Given the description of an element on the screen output the (x, y) to click on. 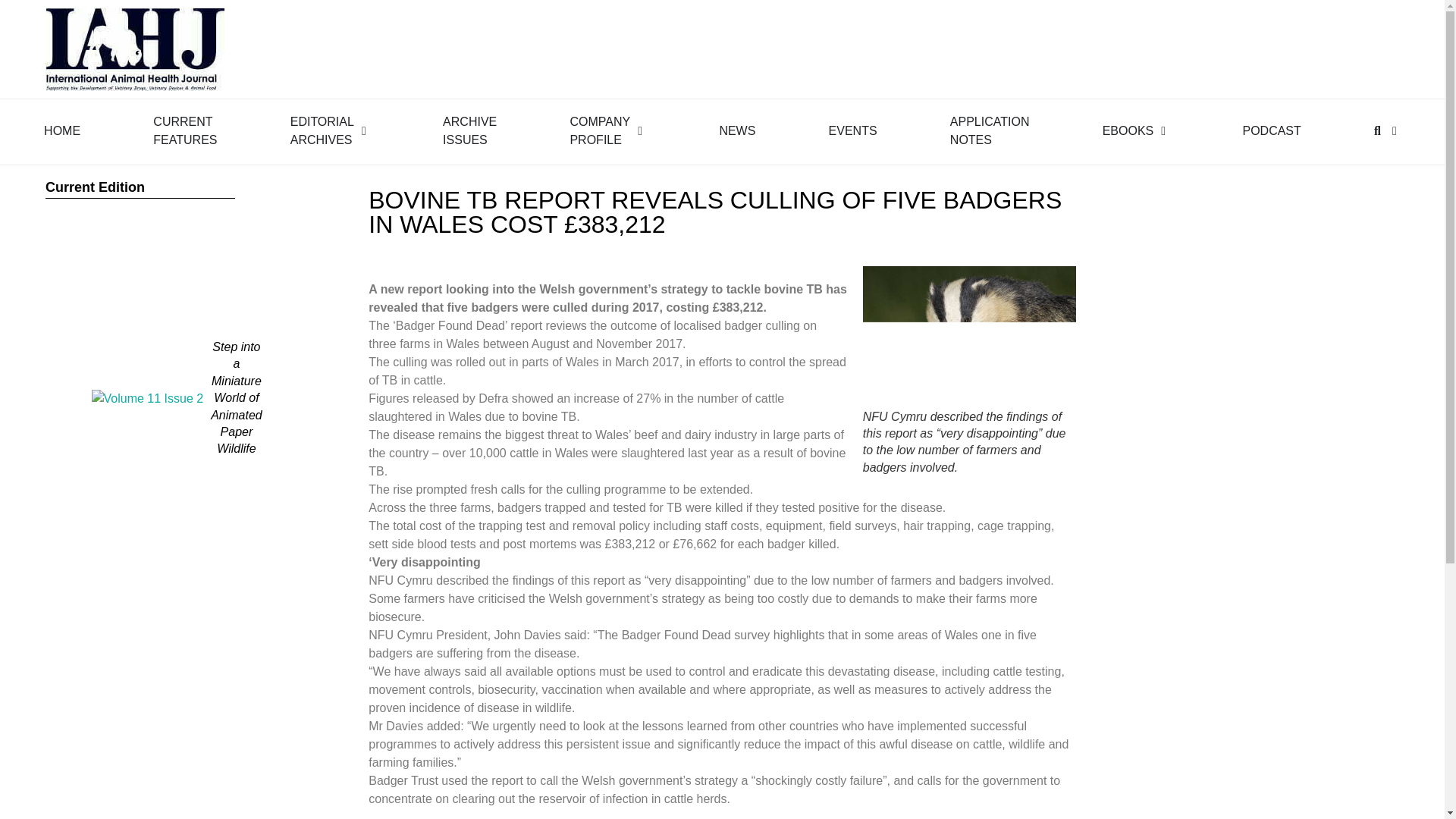
EBOOKS (599, 131)
PODCAST (1128, 131)
Volume 11 Issue 2 (1270, 131)
NEWS (184, 131)
HOME (146, 398)
EVENTS (469, 131)
